Given the description of an element on the screen output the (x, y) to click on. 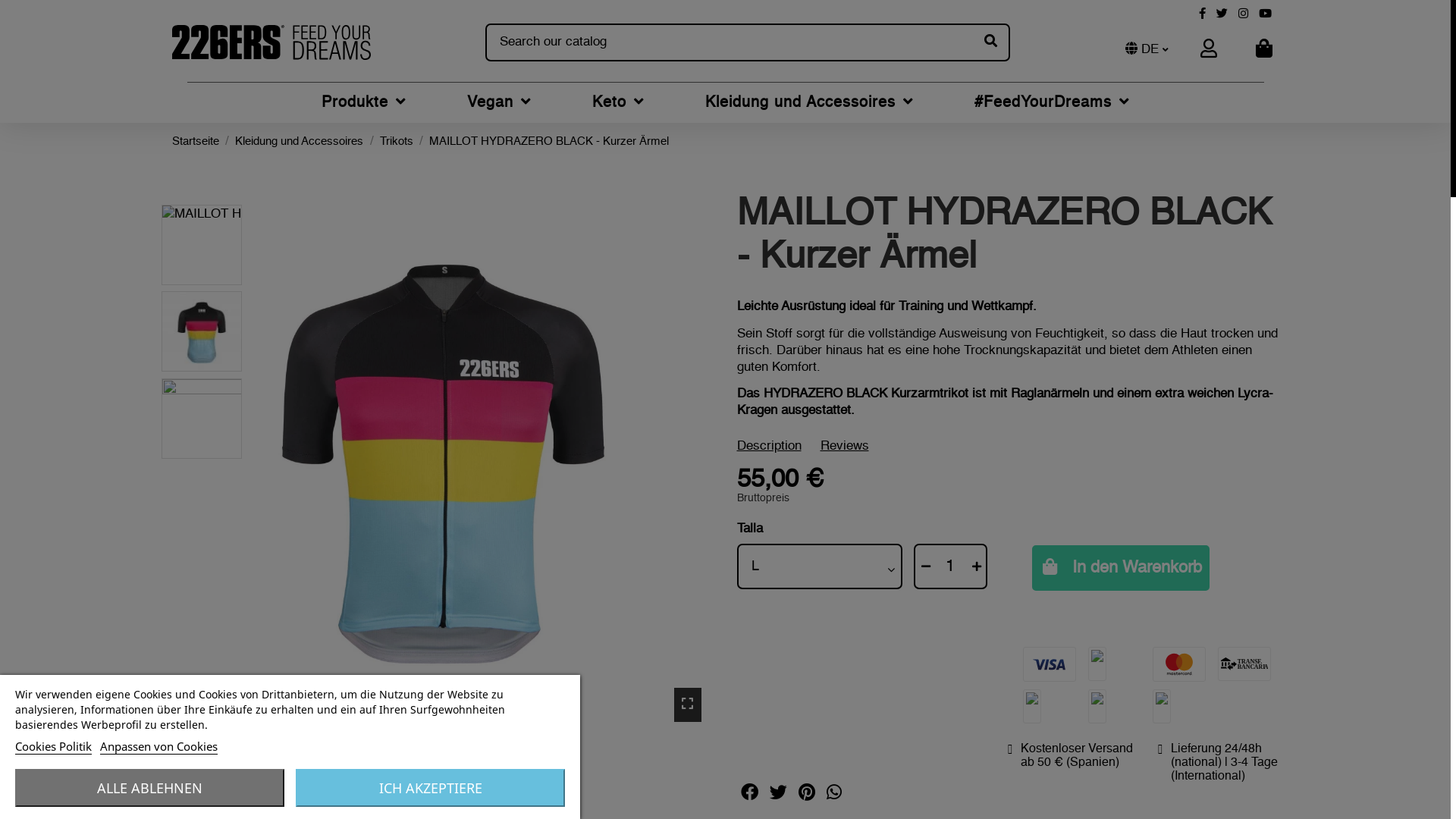
Reviews Element type: text (844, 445)
Kleidung und Accessoires Element type: text (299, 141)
Vegan Element type: text (499, 102)
#FeedYourDreams Element type: text (1051, 102)
MAILLOT HYDRAZERO BLACK Element type: hover (200, 331)
Keto Element type: text (617, 102)
MAILLOT HYDRAZERO BLACK Element type: hover (442, 463)
Produkte Element type: text (363, 102)
ICH AKZEPTIERE Element type: text (429, 787)
Kleidung und Accessoires Element type: text (809, 102)
Anpassen von Cookies Element type: text (158, 746)
Cookies Politik Element type: text (53, 746)
MAILLOT HYDRAZERO BLACK Element type: hover (200, 244)
Tweet Element type: hover (778, 794)
In den Warenkorb Element type: text (1120, 567)
Teilen Element type: hover (749, 794)
Anmelden zu Ihrem Kundenbereich Element type: hover (1195, 49)
Startseite Element type: text (194, 141)
ALLE ABLEHNEN Element type: text (149, 787)
DE Element type: text (1146, 49)
Description Element type: text (769, 445)
Pinterest Element type: hover (806, 794)
Trikots Element type: text (396, 141)
Pinterest Element type: hover (833, 794)
